Given the description of an element on the screen output the (x, y) to click on. 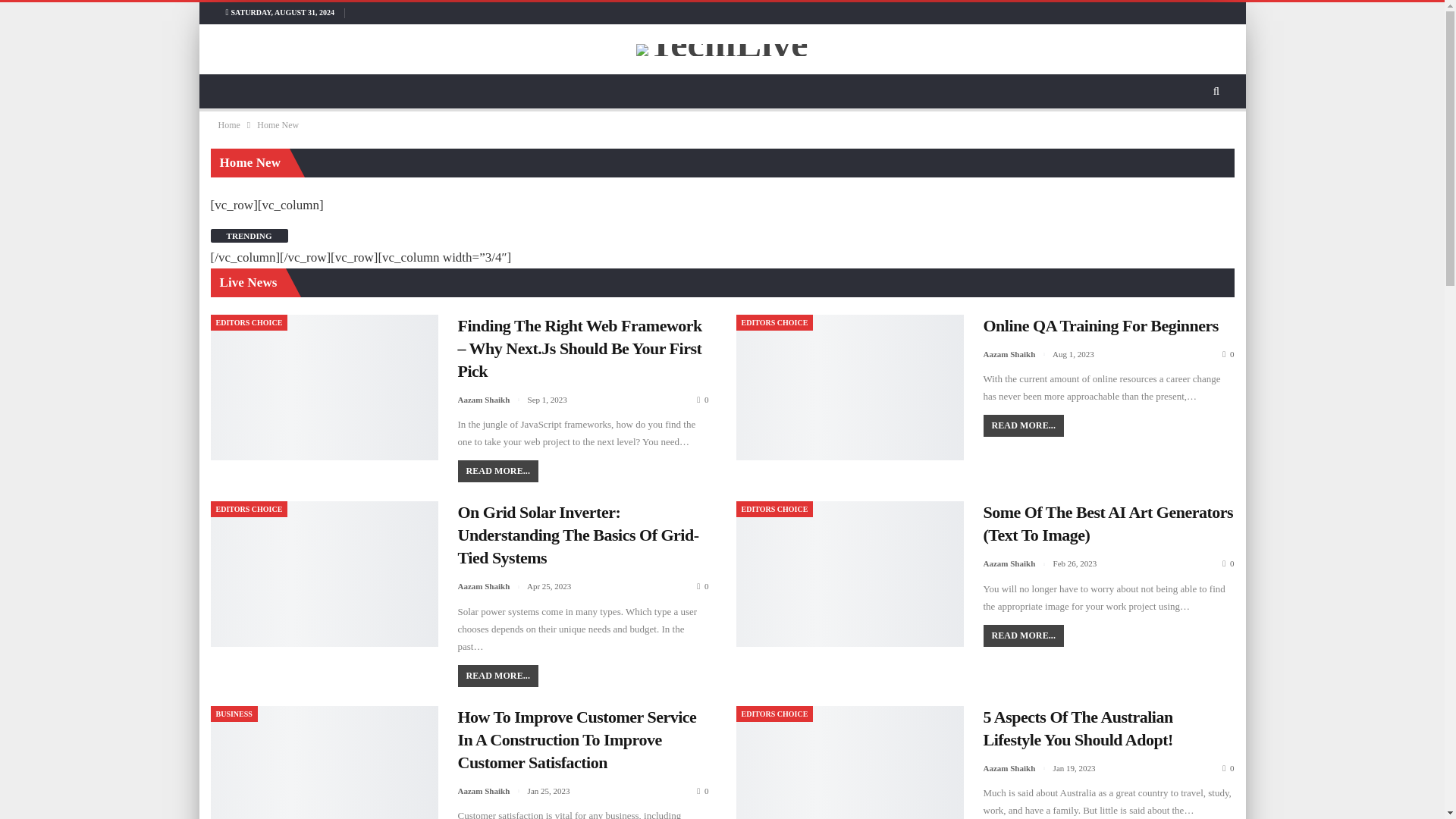
Aazam Shaikh (492, 399)
EDITORS CHOICE (773, 508)
EDITORS CHOICE (249, 322)
READ MORE... (1023, 635)
Online QA Training For Beginners (1099, 325)
Aazam Shaikh (1017, 563)
EDITORS CHOICE (249, 508)
READ MORE... (498, 471)
READ MORE... (498, 676)
